Given the description of an element on the screen output the (x, y) to click on. 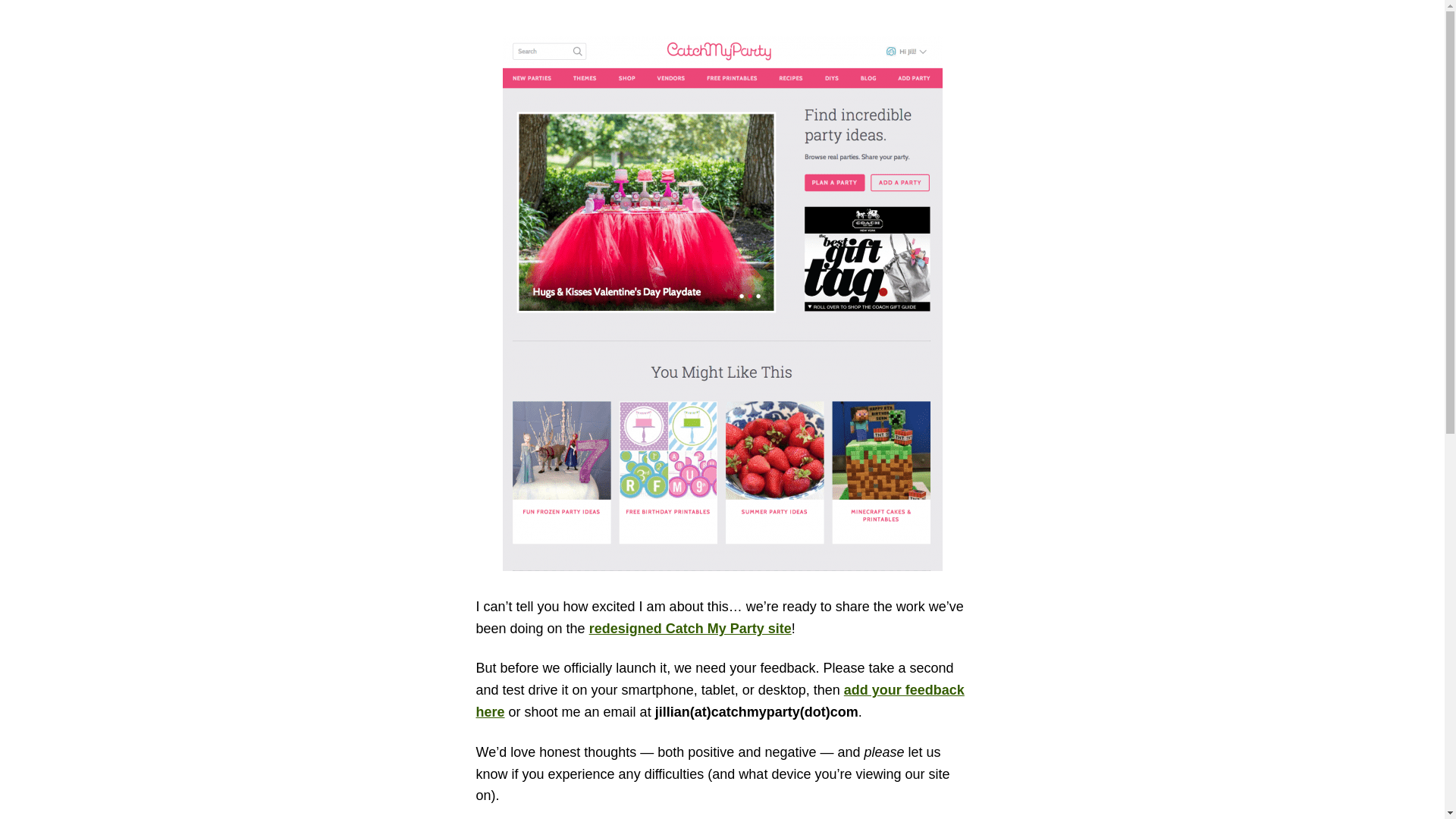
catch-my-party (690, 628)
redesigned Catch My Party site (690, 628)
add your feedback here (719, 700)
catch-my-party-feedback (719, 700)
